Given the description of an element on the screen output the (x, y) to click on. 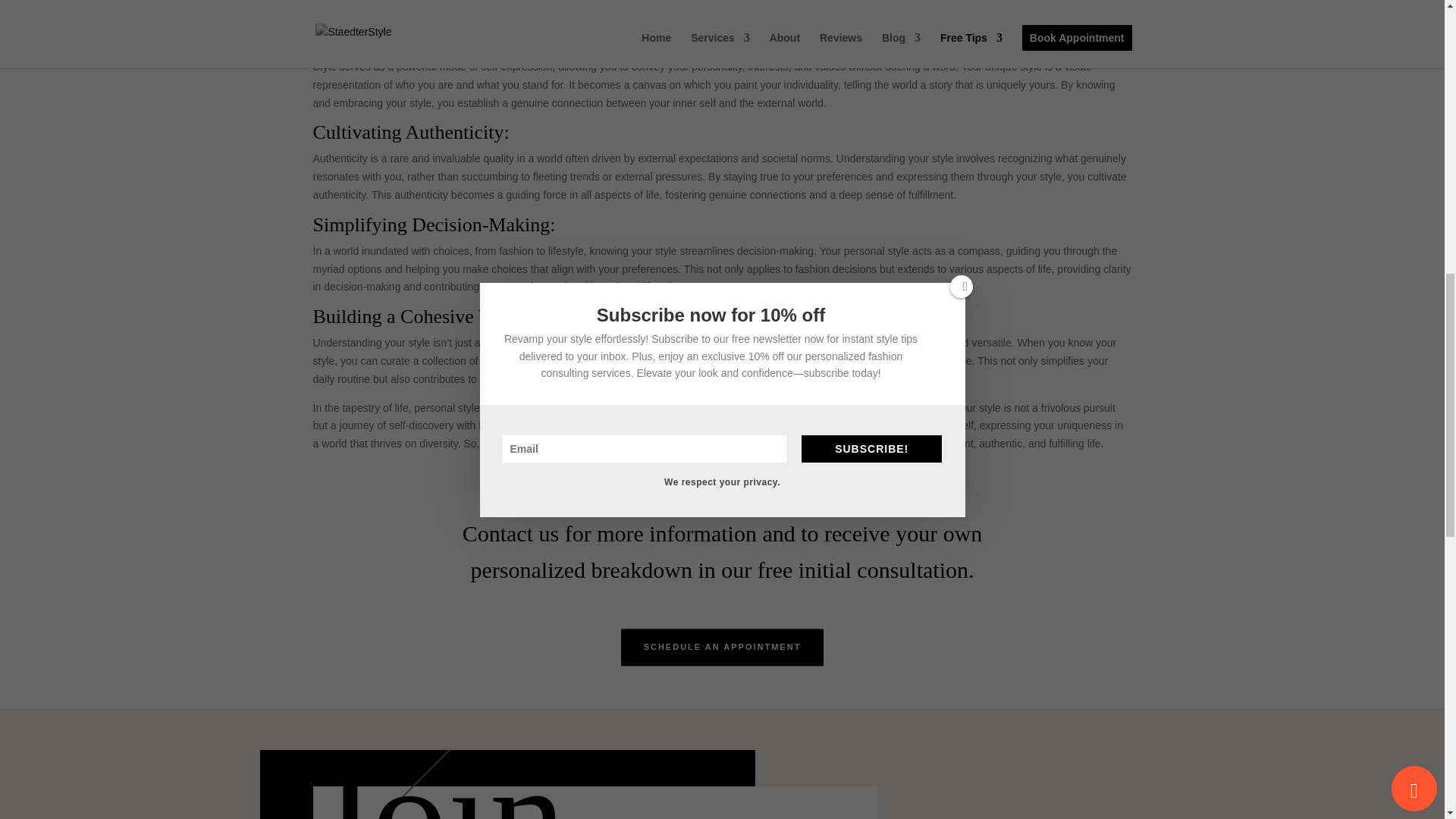
SCHEDULE AN APPOINTMENT (722, 647)
